Given the description of an element on the screen output the (x, y) to click on. 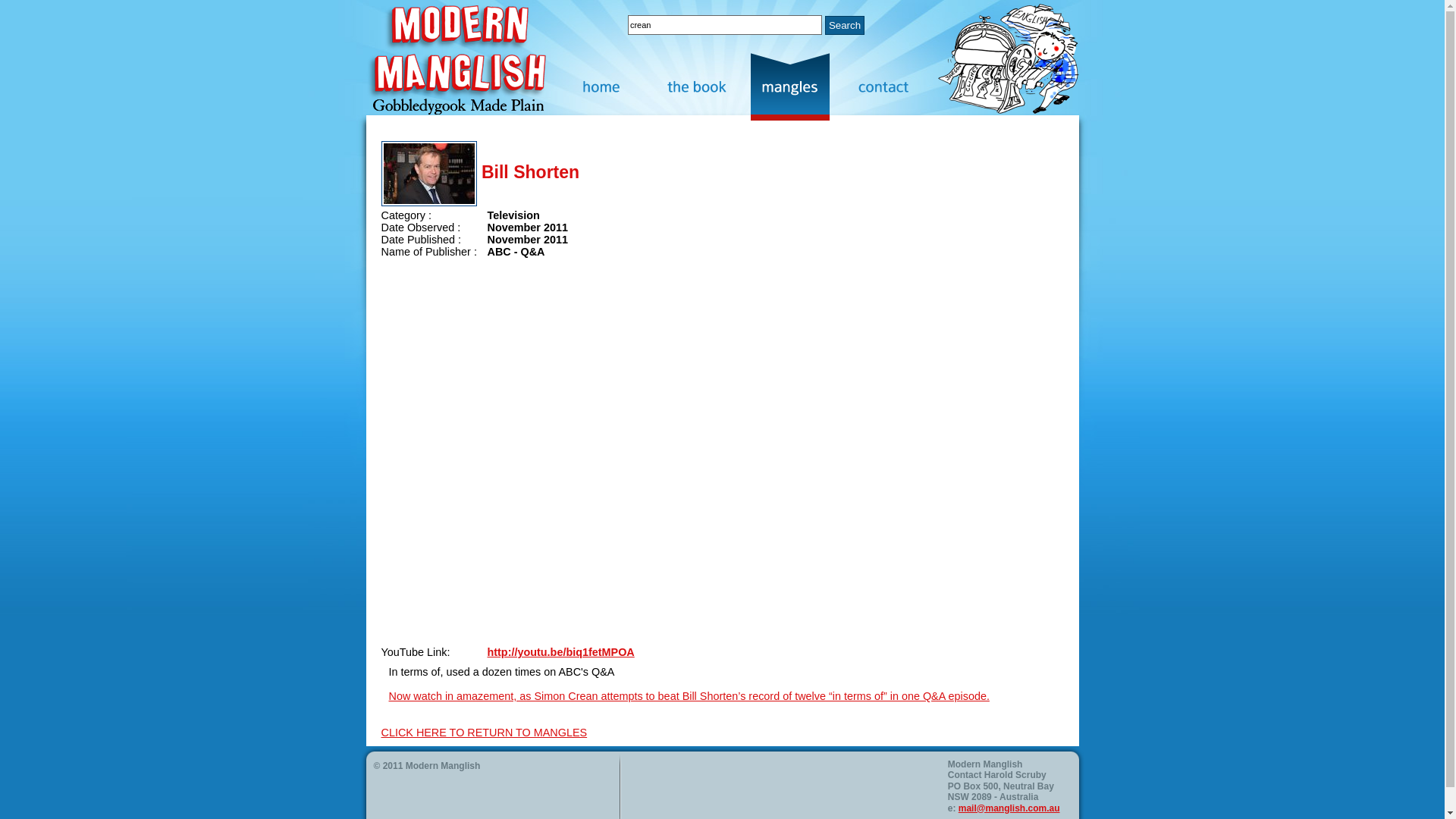
CLICK HERE TO RETURN TO MANGLES Element type: text (483, 732)
mail@manglish.com.au Element type: text (1009, 808)
Book Element type: text (703, 86)
http://youtu.be/biq1fetMPOA Element type: text (559, 652)
Contact Element type: text (891, 86)
Mangles Element type: text (797, 86)
Home Element type: text (609, 86)
Search Element type: text (844, 24)
